Given the description of an element on the screen output the (x, y) to click on. 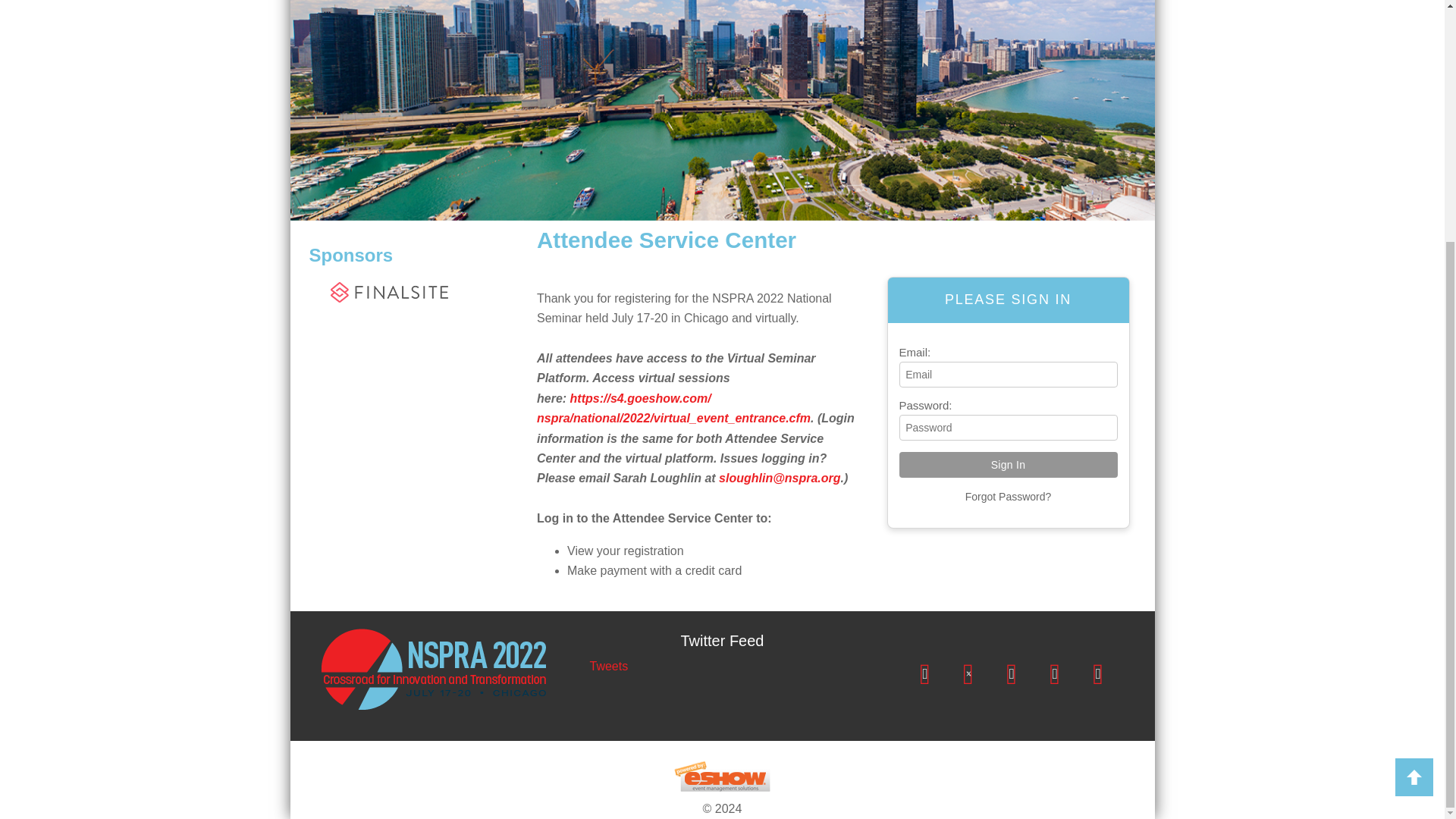
YouTube (1098, 674)
Back to Top (1413, 442)
Twitter (968, 674)
Tweets (608, 666)
LinkedIn (1010, 674)
Sign In (1008, 464)
Sign In (1008, 464)
Facebook (925, 674)
Forgot Password? (1008, 496)
Instagram (1054, 674)
